Given the description of an element on the screen output the (x, y) to click on. 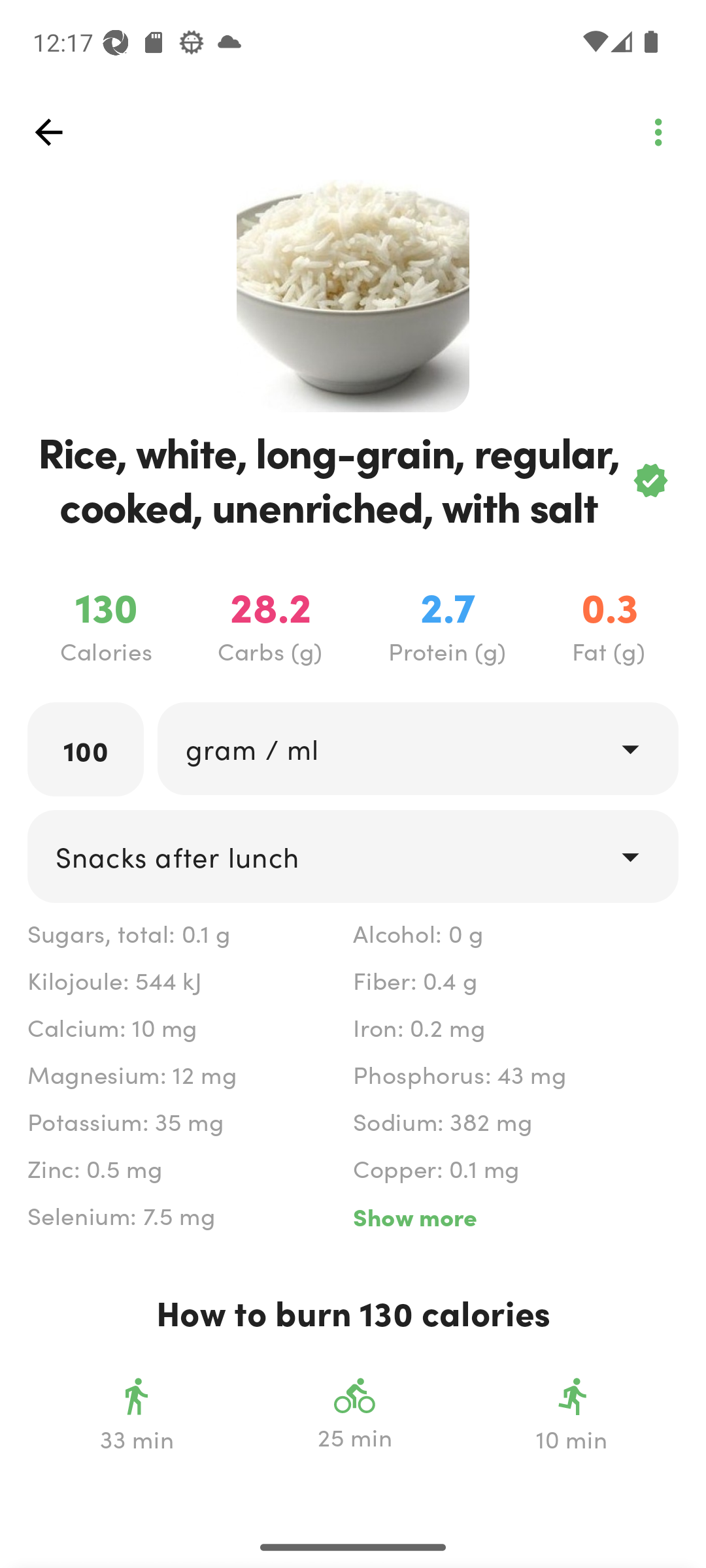
top_left_action (48, 132)
top_left_action (658, 132)
100 labeled_edit_text (85, 749)
drop_down gram / ml (417, 748)
drop_down Snacks after lunch (352, 856)
Show more (515, 1216)
